Given the description of an element on the screen output the (x, y) to click on. 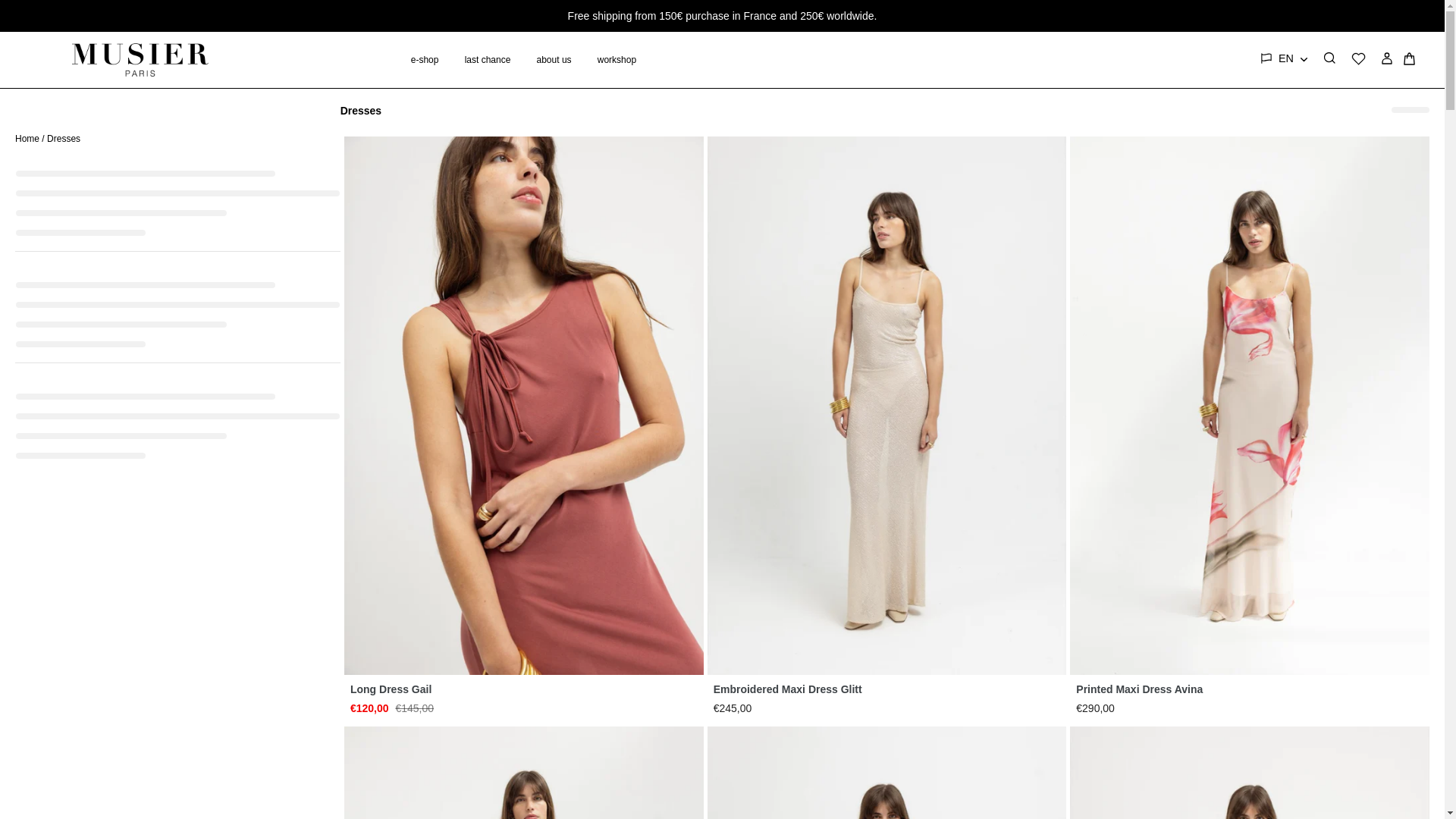
about us (554, 60)
e-shop (423, 60)
Home (26, 138)
EN (1291, 58)
last chance (487, 60)
workshop (616, 60)
